Given the description of an element on the screen output the (x, y) to click on. 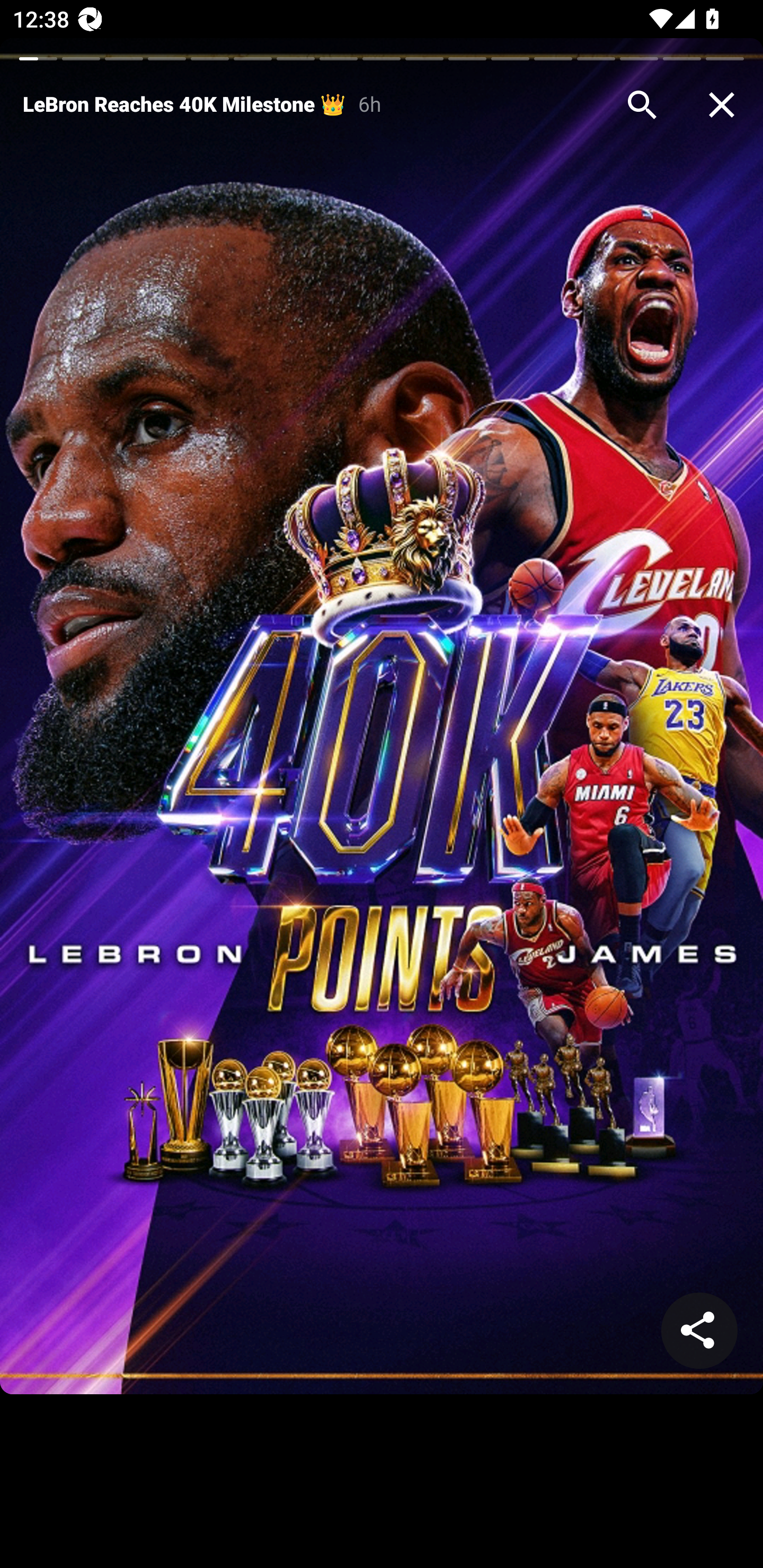
search (642, 104)
close (721, 104)
share (699, 1330)
